Given the description of an element on the screen output the (x, y) to click on. 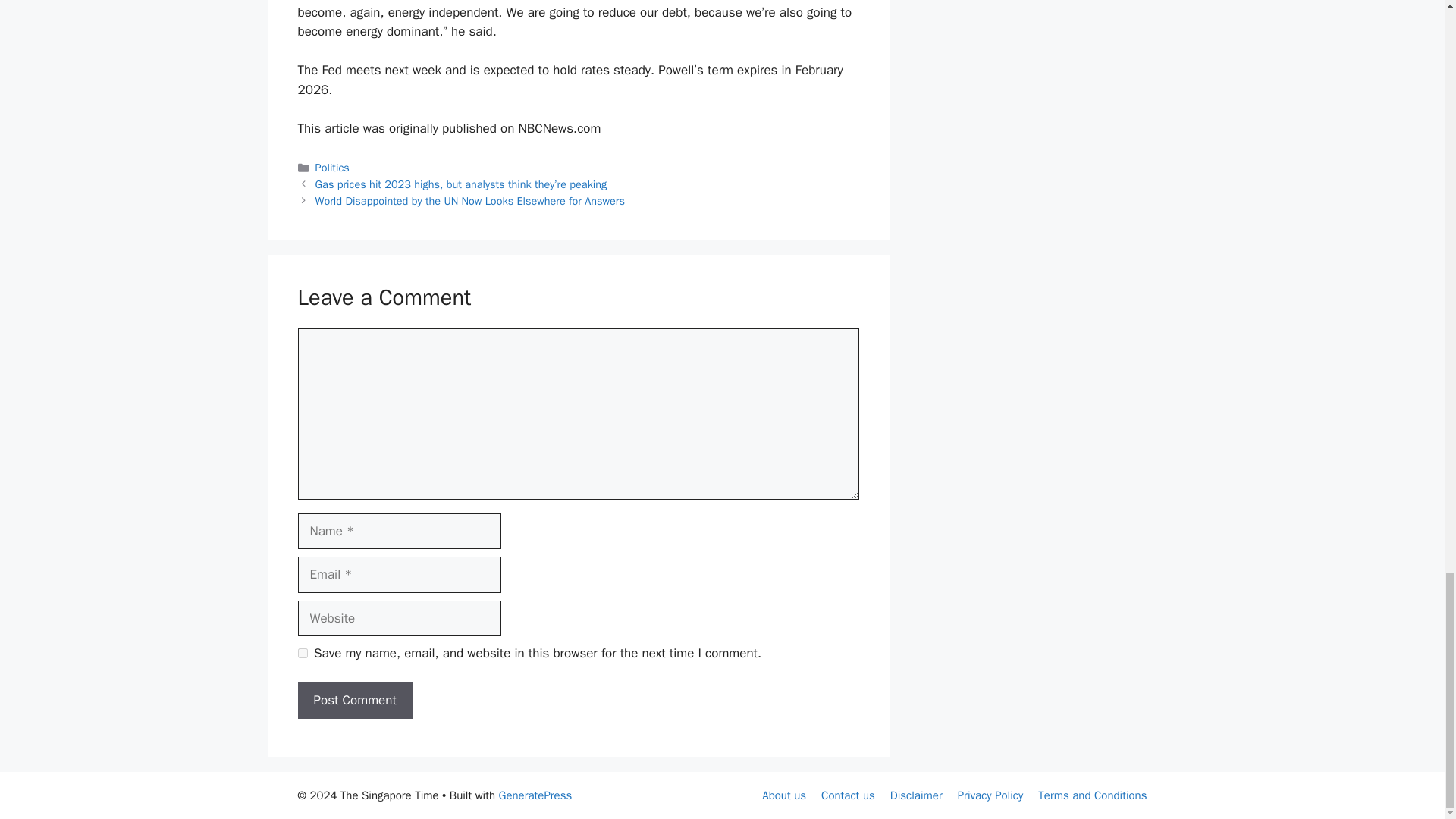
Post Comment (354, 700)
About us (783, 795)
Contact us (848, 795)
Disclaimer (915, 795)
Terms and Conditions (1092, 795)
Post Comment (354, 700)
Politics (332, 167)
Privacy Policy (990, 795)
GeneratePress (535, 795)
World Disappointed by the UN Now Looks Elsewhere for Answers (469, 201)
yes (302, 653)
